Given the description of an element on the screen output the (x, y) to click on. 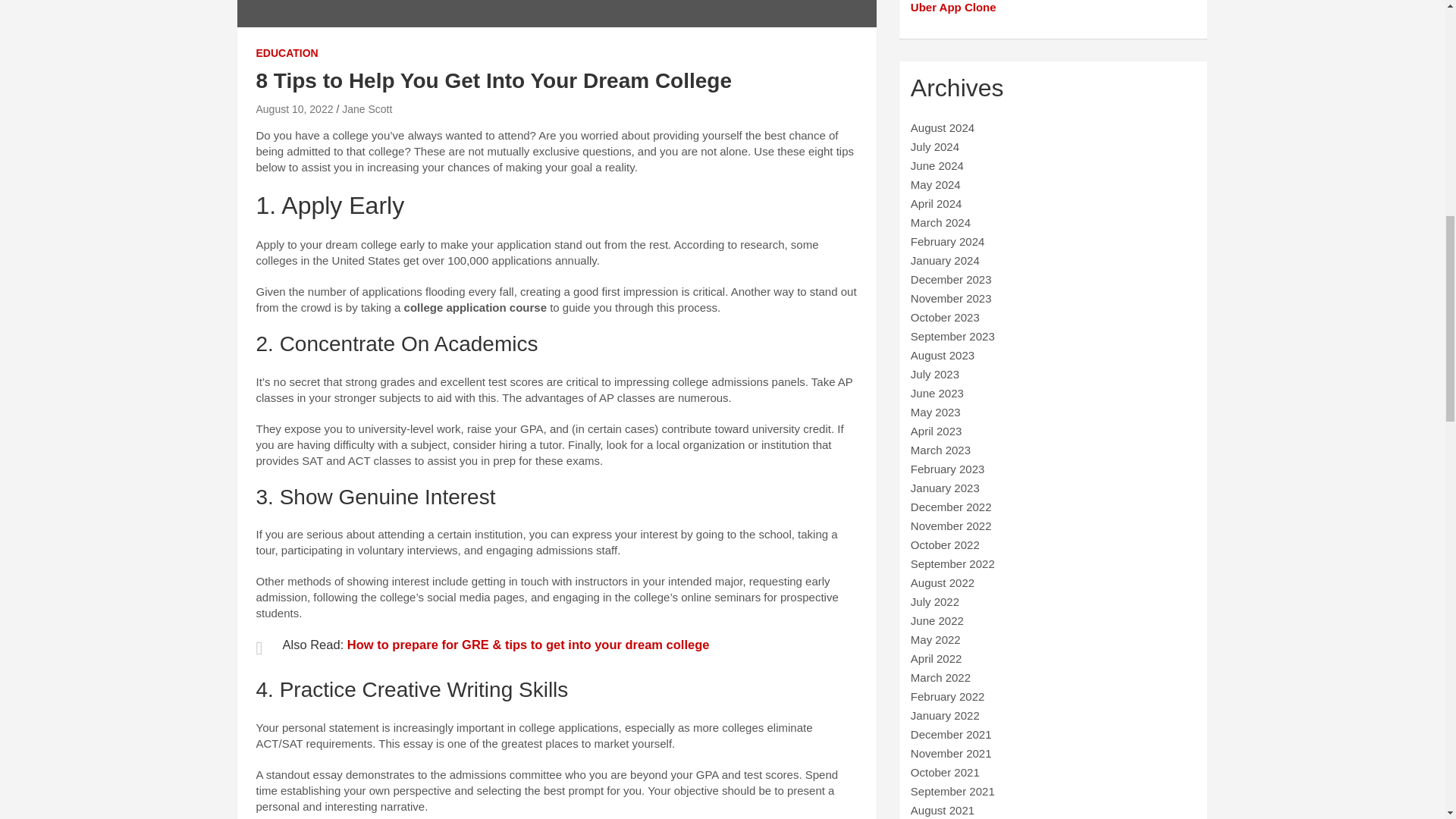
August 10, 2022 (294, 109)
Jane Scott (366, 109)
8 Tips to Help You Get Into Your Dream College (294, 109)
EDUCATION (287, 53)
